Given the description of an element on the screen output the (x, y) to click on. 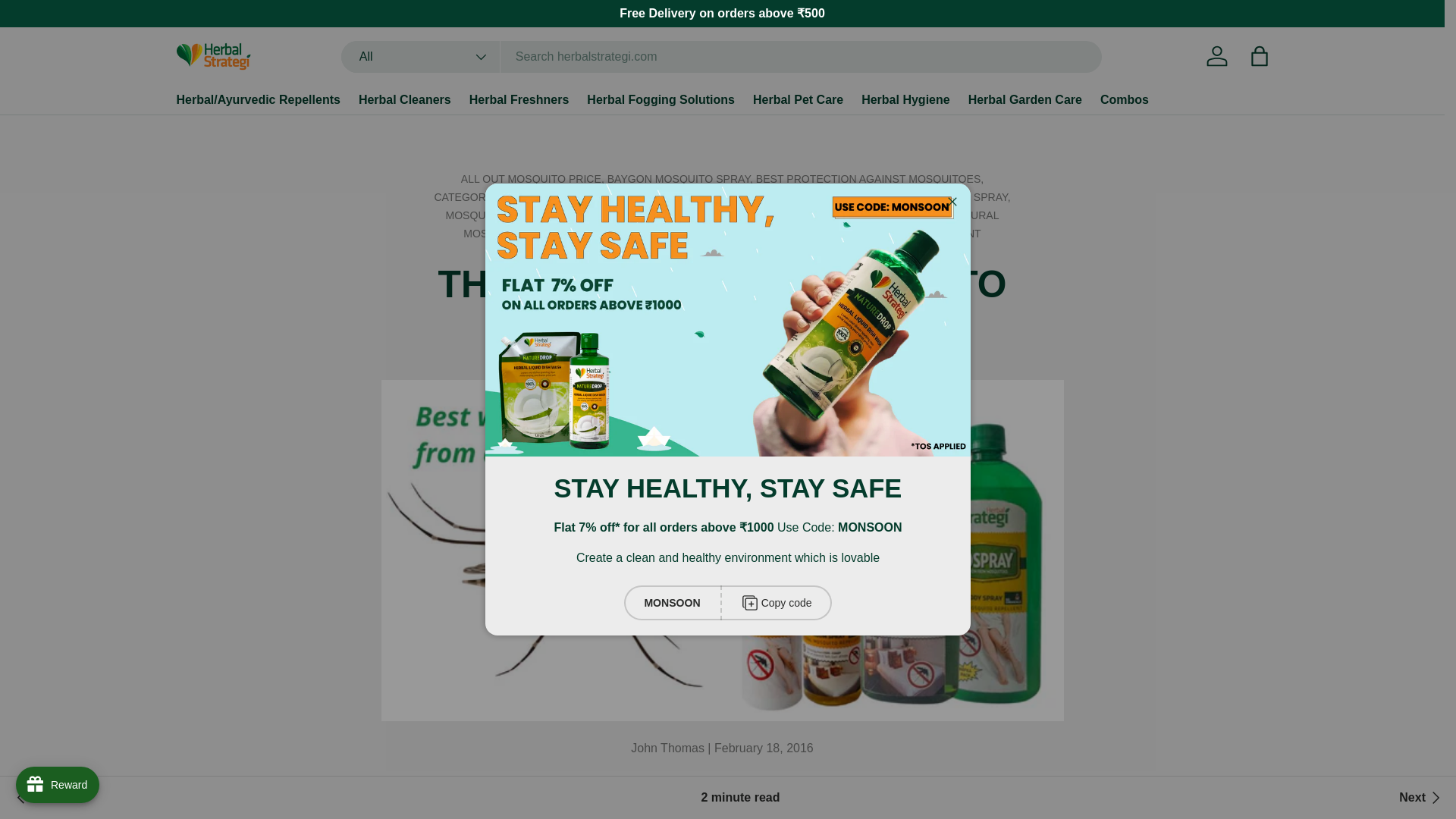
All (420, 56)
Combos (1124, 99)
Herbal Hygiene (905, 99)
Log in (1216, 55)
Bag (1258, 55)
Previous (46, 797)
BAYGON MOSQUITO SPRAY, (681, 178)
Skip to content (69, 21)
MOSQUITO KILLER, (496, 215)
MOSQUITO REPELLENT MANUFACTURERS IN INDIA, (813, 215)
GOOD NIGHT MOSQUITO, (702, 196)
MOSQUITO REPELLENT, (612, 215)
INSECT REPELLENT, (824, 196)
Next (1421, 797)
